Given the description of an element on the screen output the (x, y) to click on. 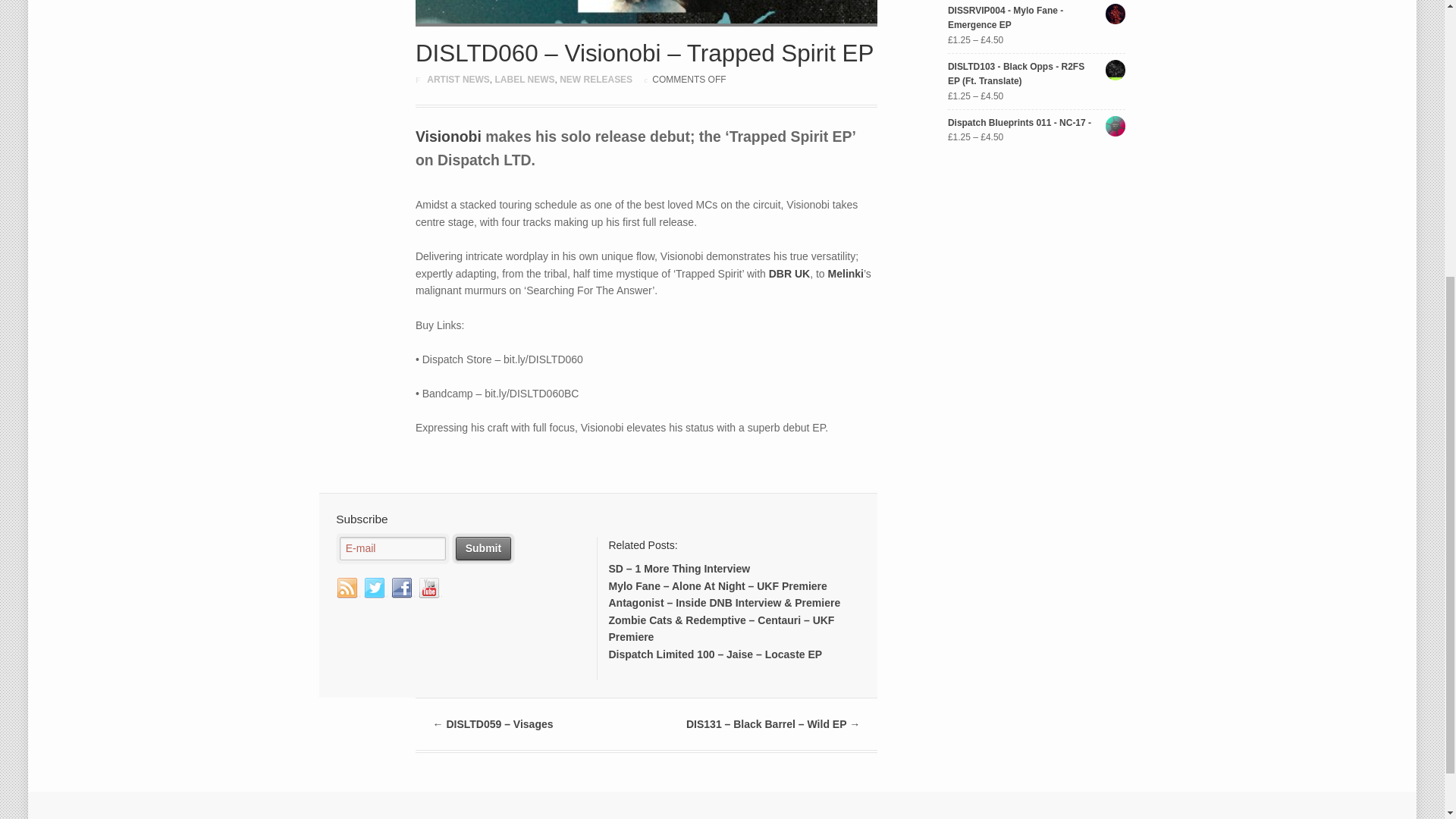
DBR UK (788, 273)
LABEL NEWS (524, 79)
Submit (483, 548)
YouTube (429, 588)
NEW RELEASES (595, 79)
RSS (347, 588)
Melinki (845, 273)
Facebook (402, 588)
Twitter (374, 588)
Visionobi (447, 135)
ARTIST NEWS (457, 79)
E-mail (392, 548)
